Given the description of an element on the screen output the (x, y) to click on. 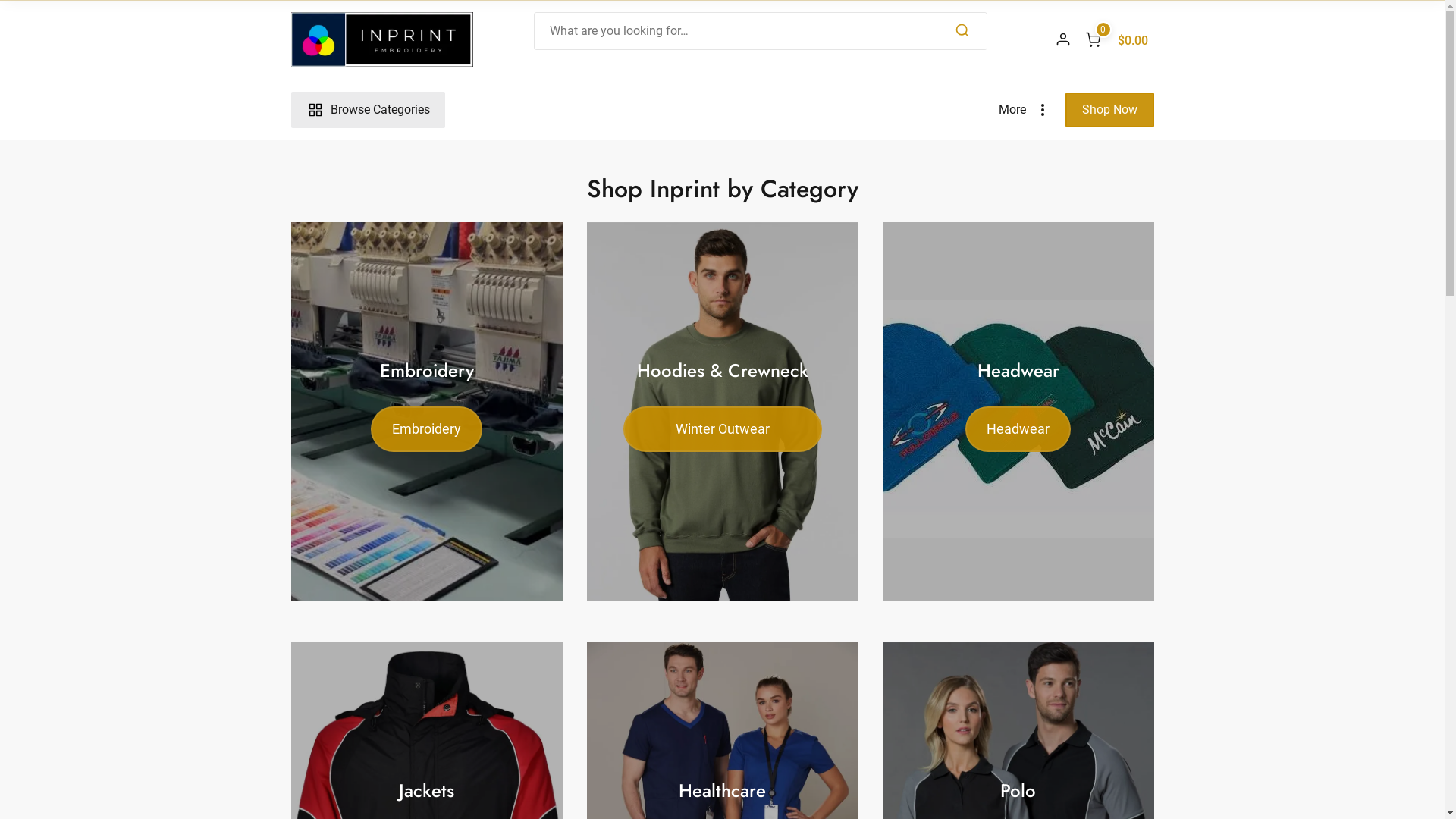
Browse Categories Element type: text (368, 109)
Winter Outwear Element type: text (722, 429)
More Element type: text (1027, 109)
Login/Register Element type: hover (1063, 39)
Headwear Element type: text (1017, 429)
Inprint - Home 5 Element type: hover (1018, 411)
Inprint - Home 3 Element type: hover (722, 411)
0
$0.00 Element type: text (1116, 39)
Search Element type: text (961, 30)
Embroidery Element type: text (426, 429)
Inprint - Home 1 Element type: hover (426, 411)
Shop Now Element type: text (1108, 109)
